Given the description of an element on the screen output the (x, y) to click on. 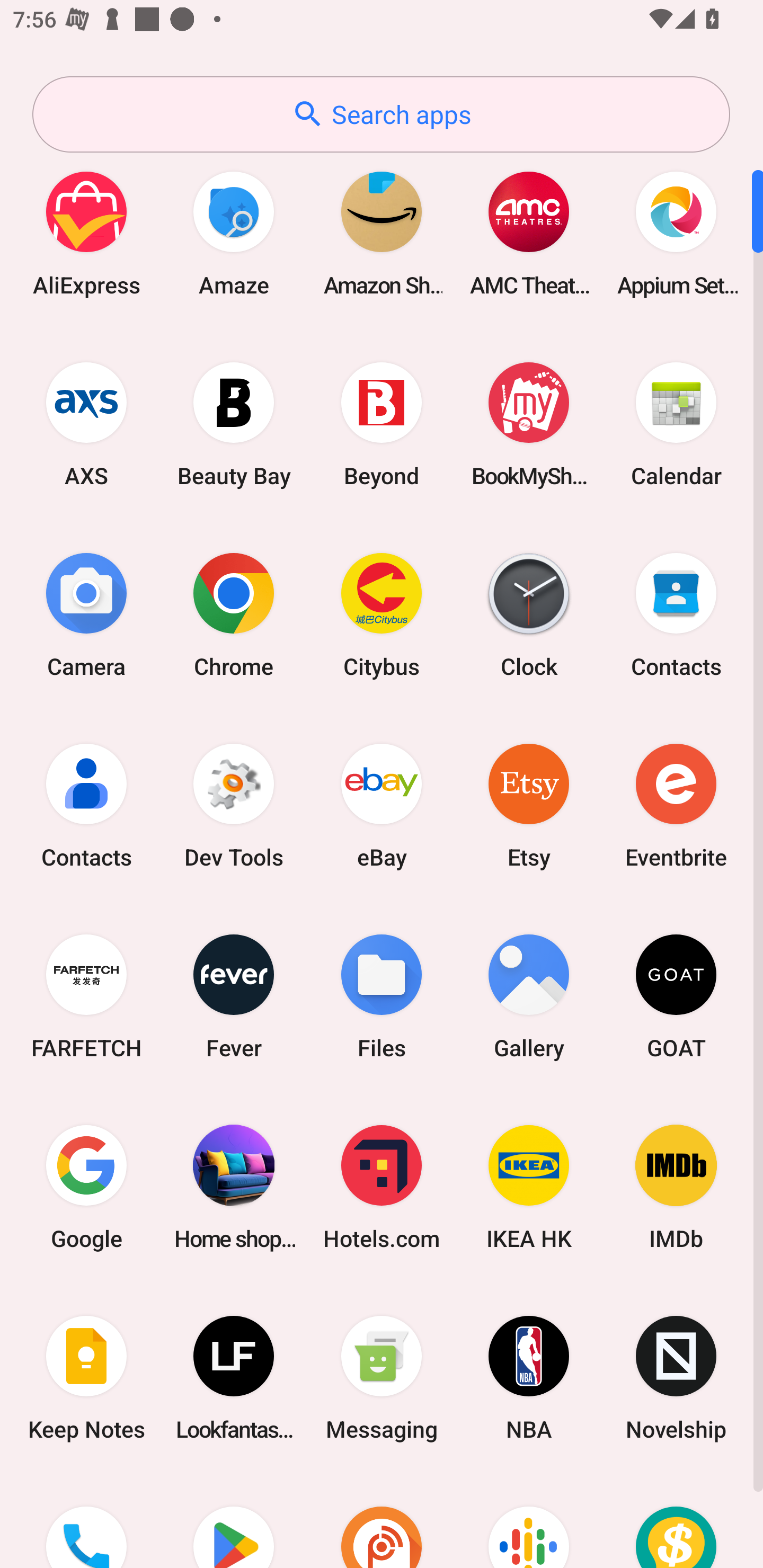
  Search apps (381, 114)
AliExpress (86, 233)
Amaze (233, 233)
Amazon Shopping (381, 233)
AMC Theatres (528, 233)
Appium Settings (676, 233)
AXS (86, 424)
Beauty Bay (233, 424)
Beyond (381, 424)
BookMyShow (528, 424)
Calendar (676, 424)
Camera (86, 614)
Chrome (233, 614)
Citybus (381, 614)
Clock (528, 614)
Contacts (676, 614)
Contacts (86, 805)
Dev Tools (233, 805)
eBay (381, 805)
Etsy (528, 805)
Eventbrite (676, 805)
FARFETCH (86, 996)
Fever (233, 996)
Files (381, 996)
Gallery (528, 996)
GOAT (676, 996)
Google (86, 1186)
Home shopping (233, 1186)
Hotels.com (381, 1186)
IKEA HK (528, 1186)
IMDb (676, 1186)
Keep Notes (86, 1377)
Lookfantastic (233, 1377)
Messaging (381, 1377)
NBA (528, 1377)
Novelship (676, 1377)
Phone (86, 1520)
Play Store (233, 1520)
Podcast Addict (381, 1520)
Podcasts (528, 1520)
Price (676, 1520)
